Given the description of an element on the screen output the (x, y) to click on. 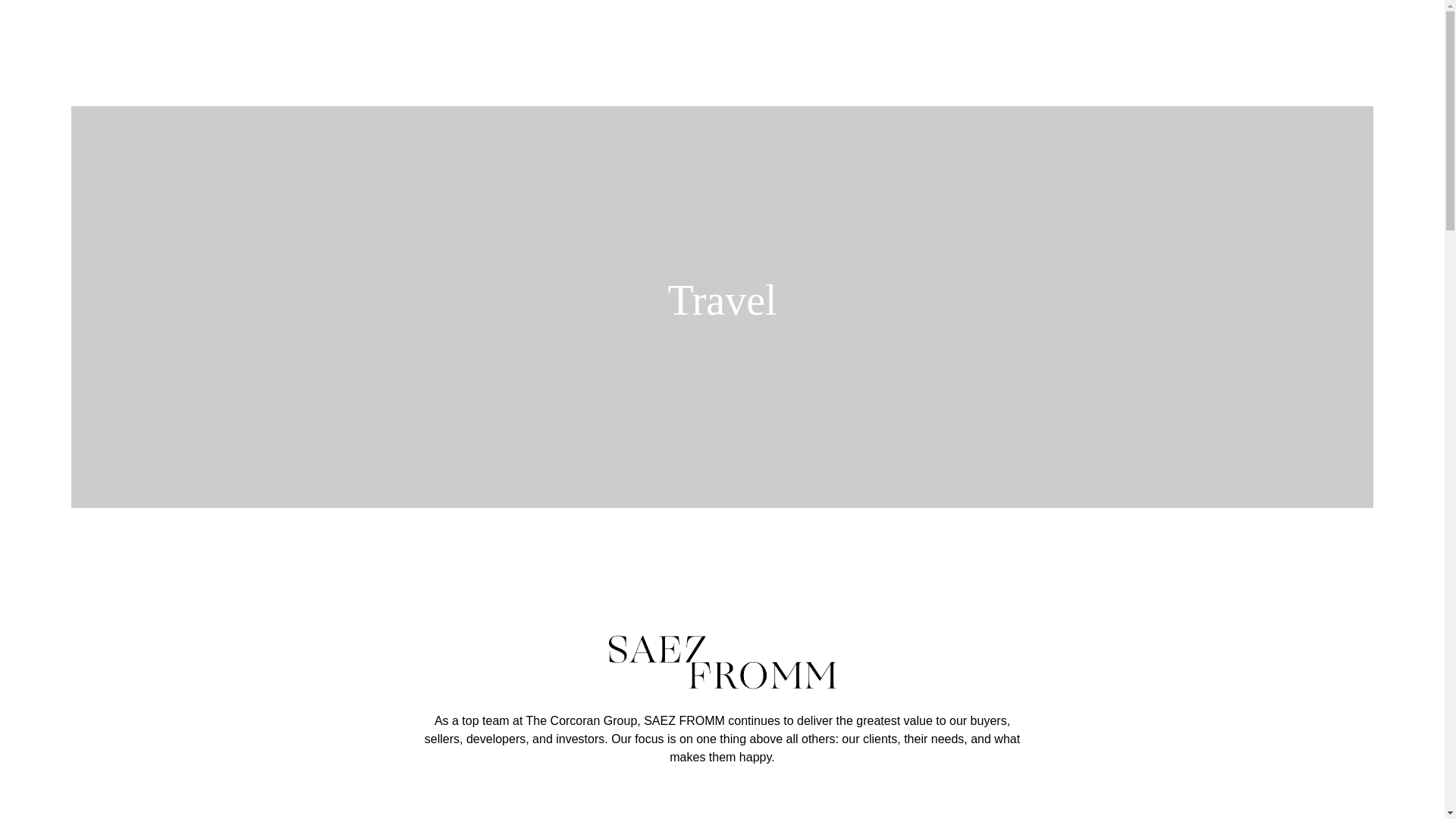
BLOG (846, 35)
CONTACT US (929, 35)
MEET THE TEAM (544, 35)
PROPERTIES (654, 35)
MENU (1169, 36)
HOME SEARCH (759, 35)
